Given the description of an element on the screen output the (x, y) to click on. 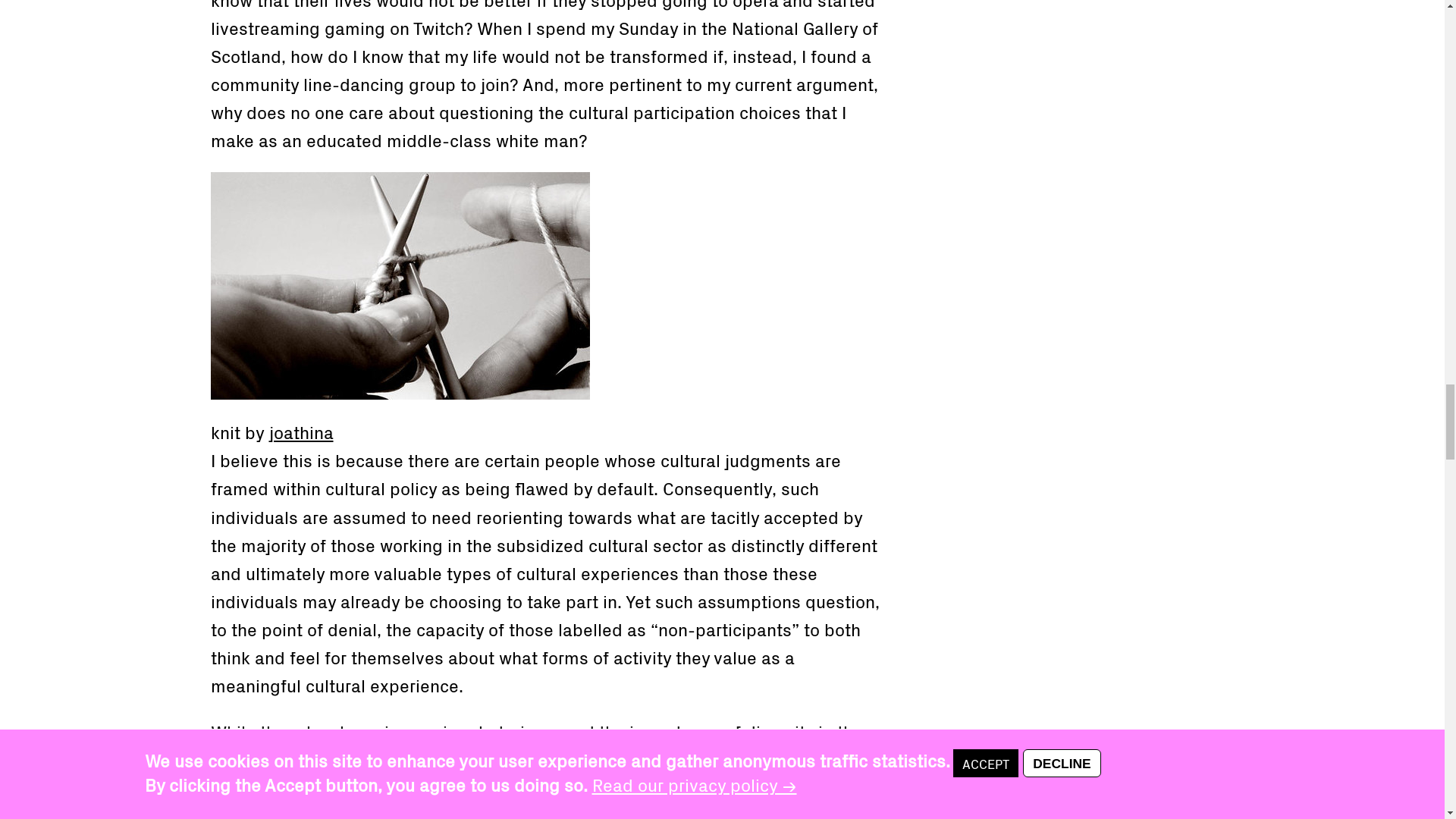
joathina (300, 431)
